Given the description of an element on the screen output the (x, y) to click on. 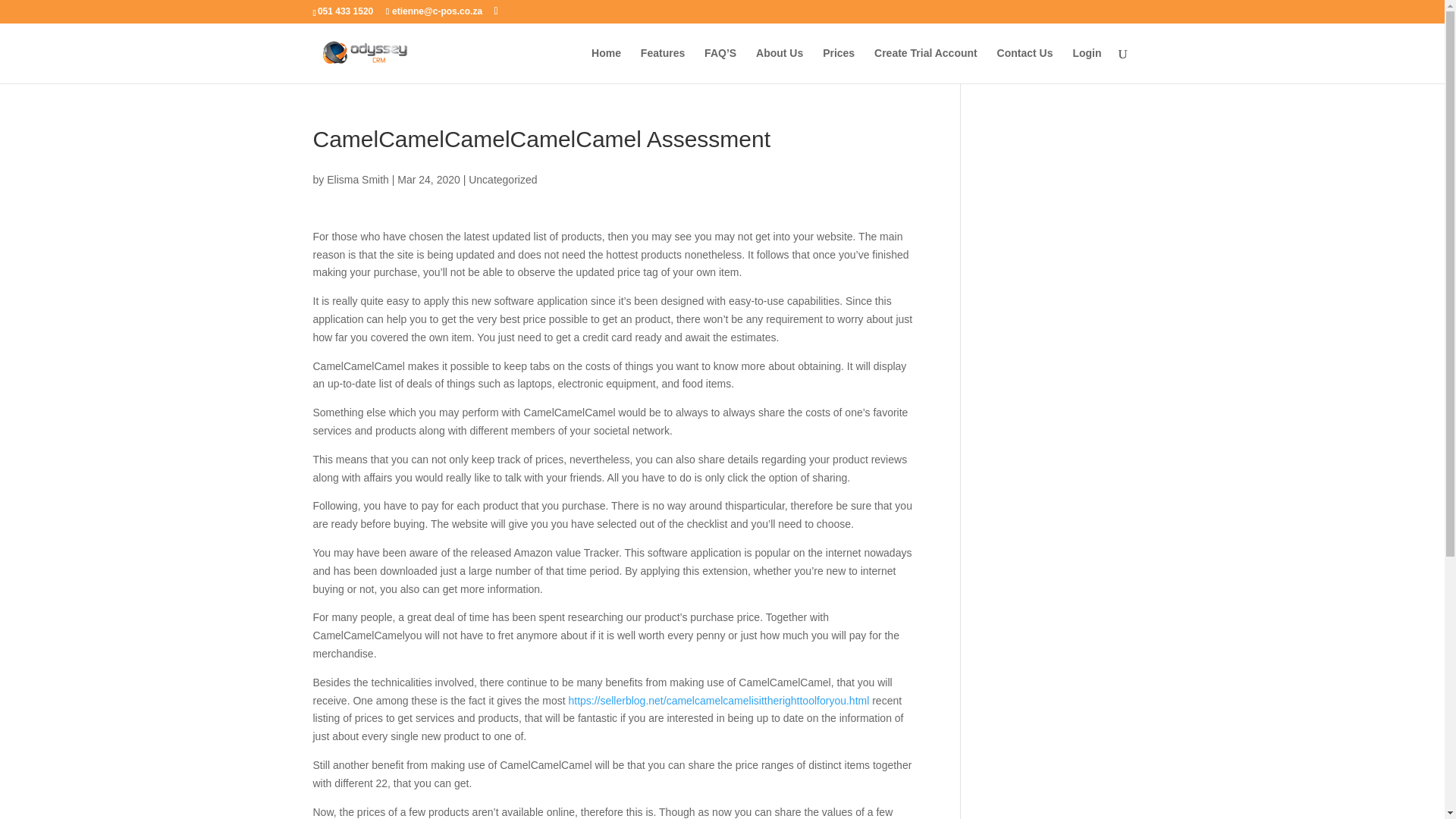
Create Trial Account (925, 65)
Elisma Smith (357, 179)
About Us (779, 65)
Uncategorized (502, 179)
Posts by Elisma Smith (357, 179)
Contact Us (1024, 65)
Features (662, 65)
Prices (838, 65)
